Given the description of an element on the screen output the (x, y) to click on. 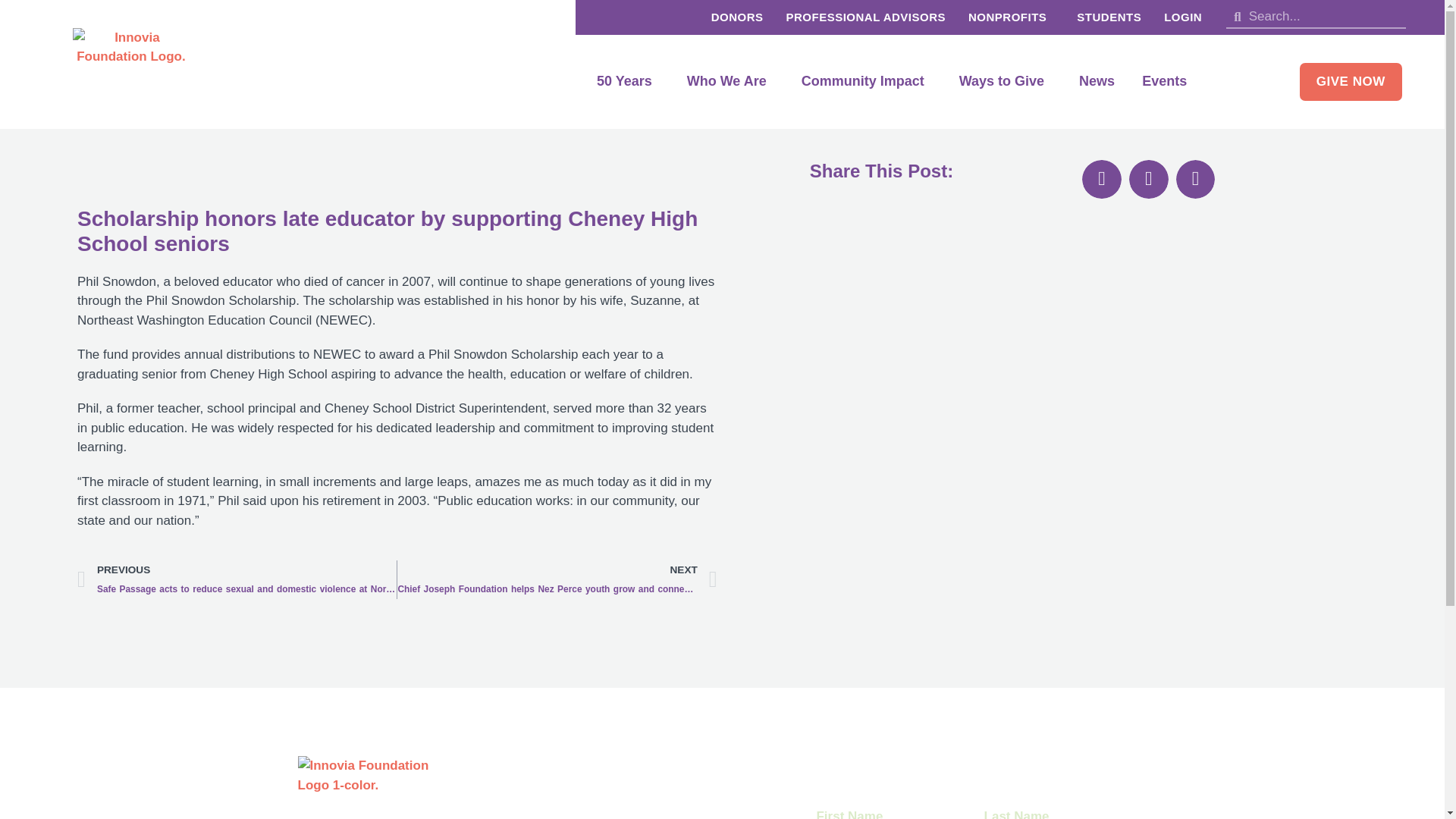
Ways to Give (1004, 81)
STUDENTS (1109, 17)
Who We Are (729, 81)
DONORS (737, 17)
Community Impact (865, 81)
50 Years (627, 81)
PROFESSIONAL ADVISORS (865, 17)
LOGIN (1182, 17)
NONPROFITS (1010, 17)
